Given the description of an element on the screen output the (x, y) to click on. 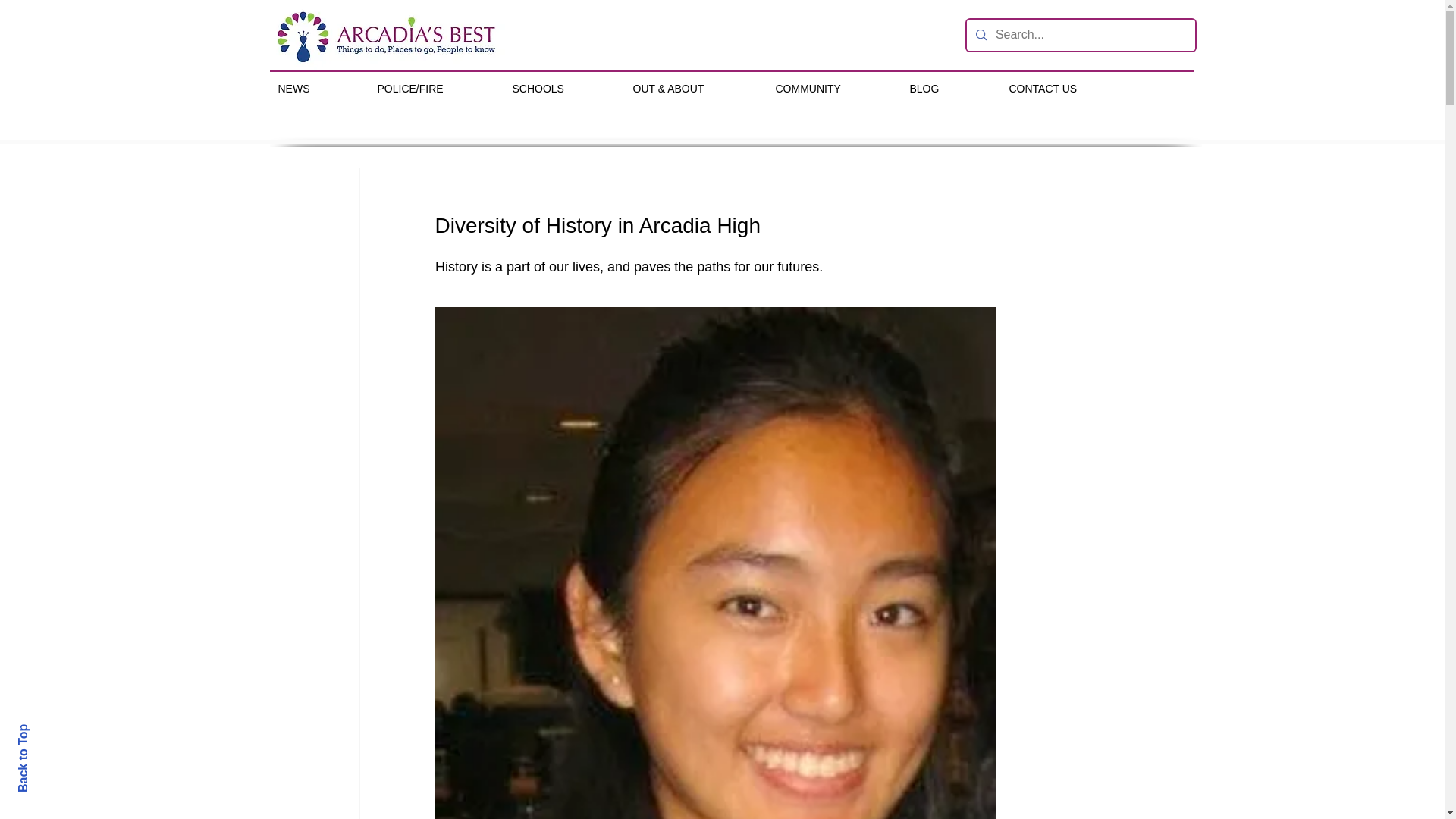
BLOG (947, 88)
CONTACT US (1065, 88)
SCHOOLS (560, 88)
COMMUNITY (831, 88)
NEWS (316, 88)
